Given the description of an element on the screen output the (x, y) to click on. 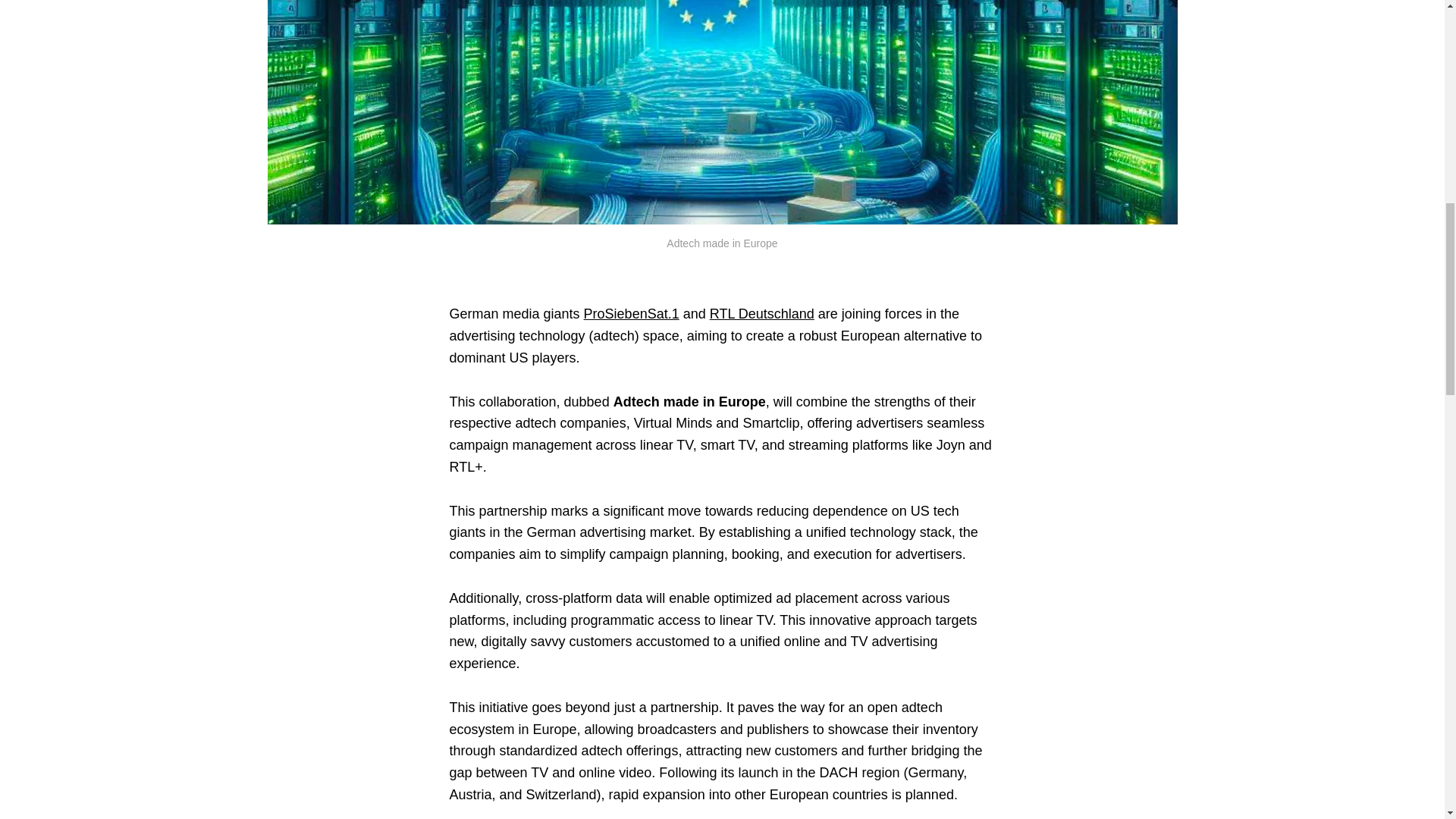
ProSiebenSat.1 (631, 313)
RTL Deutschland (761, 313)
